Given the description of an element on the screen output the (x, y) to click on. 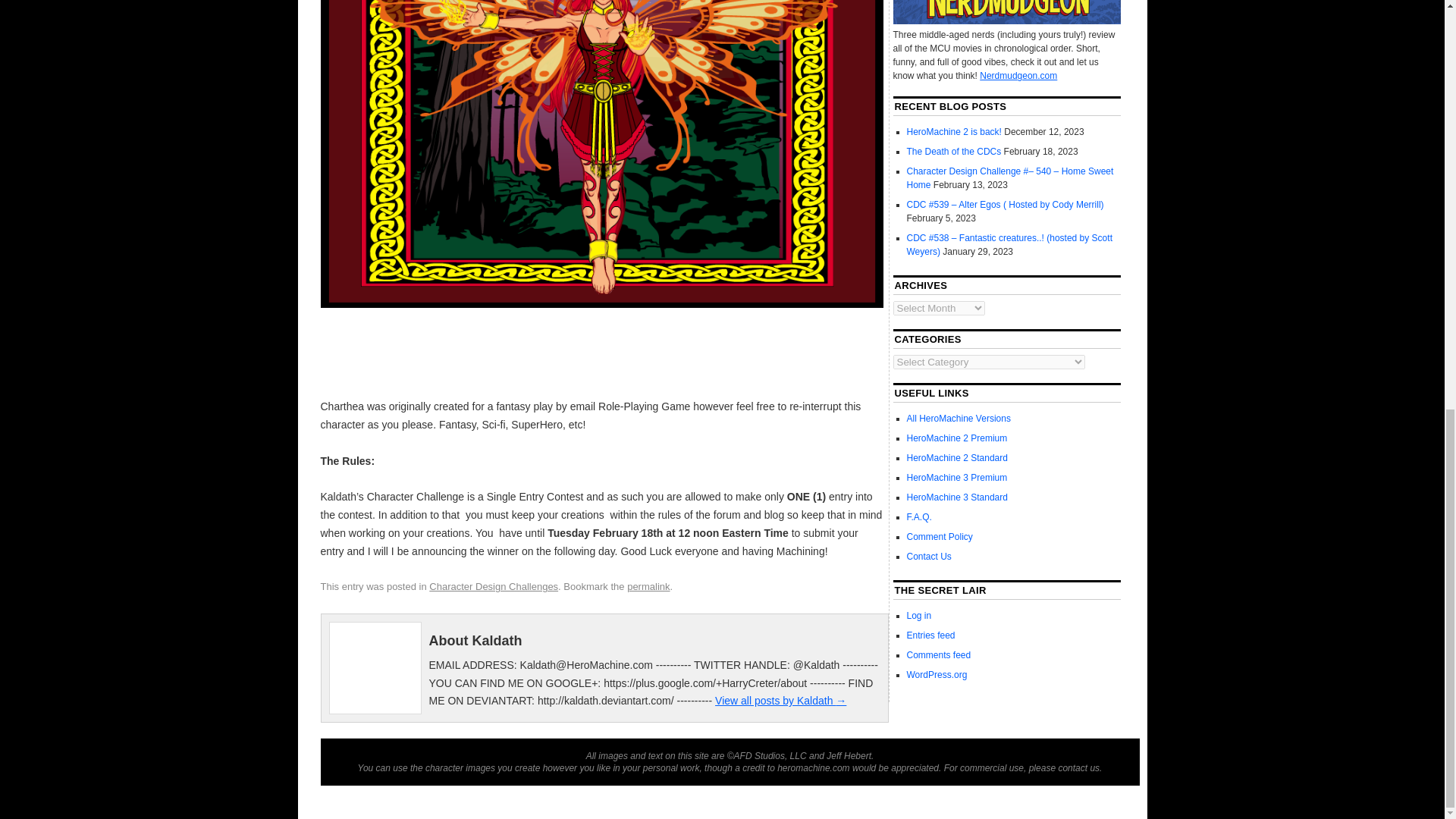
Nerdmudgeon.com (1018, 75)
permalink (648, 586)
Character Design Challenges (493, 586)
HeroMachine 2 Standard (957, 457)
The Death of the CDCs (954, 151)
HeroMachine 3 Standard (957, 497)
F.A.Q. (919, 516)
All HeroMachine Versions (958, 418)
HeroMachine 3 Premium (957, 477)
HeroMachine 2 is back! (954, 131)
HeroMachine 2 Premium (957, 438)
Comment Policy (939, 536)
